Given the description of an element on the screen output the (x, y) to click on. 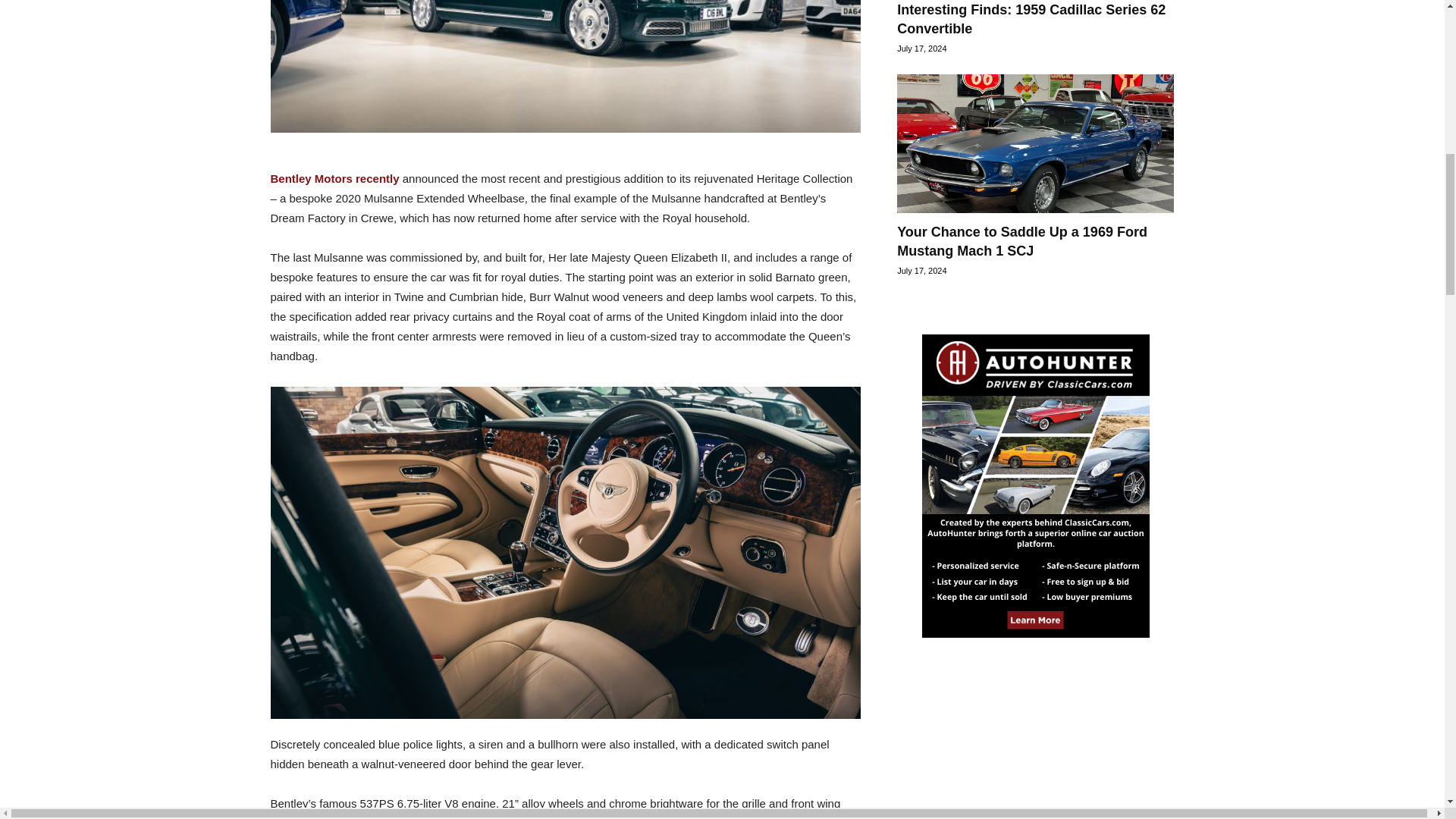
TheLastMulsanne-1 (564, 65)
